Given the description of an element on the screen output the (x, y) to click on. 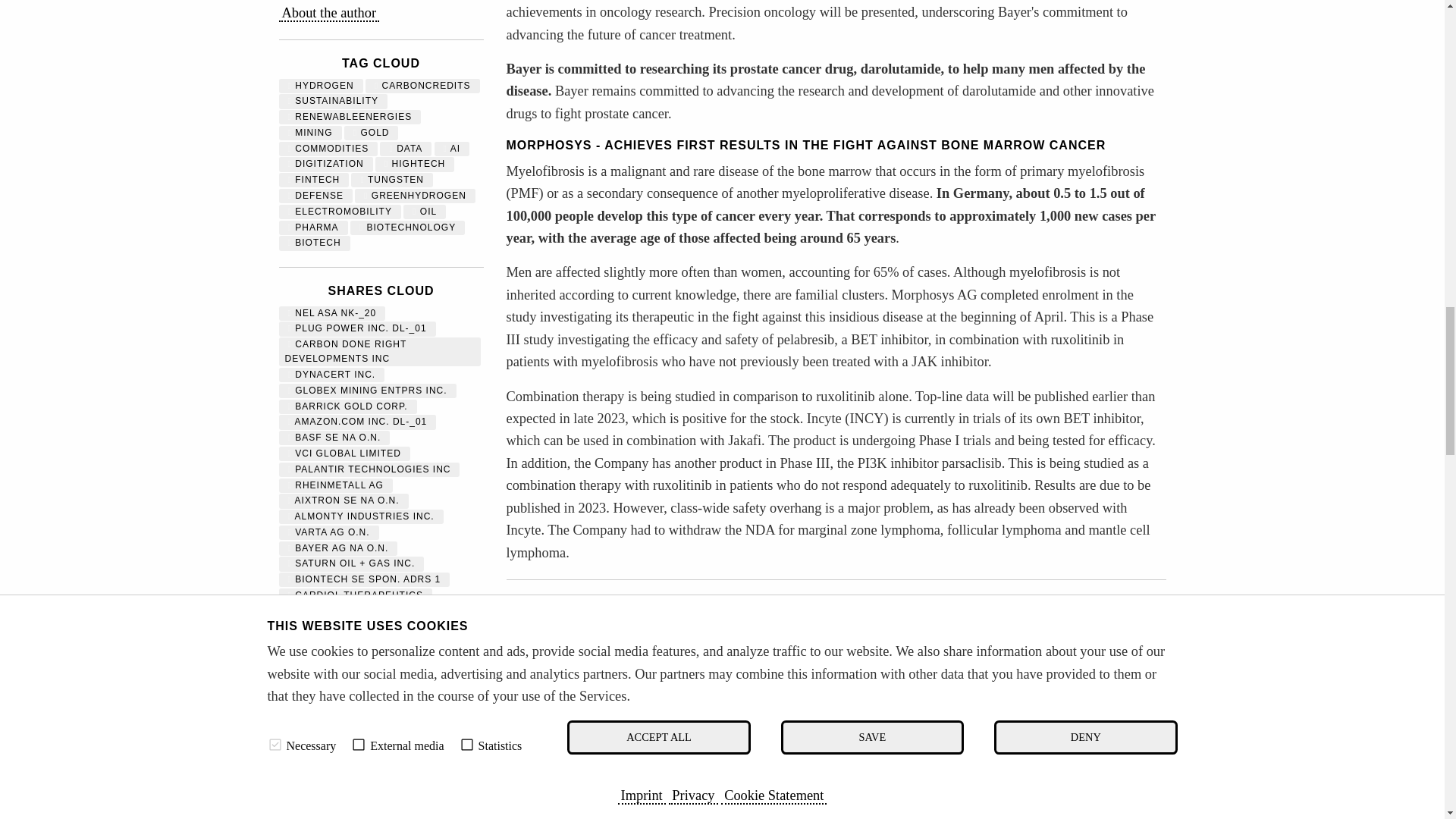
FINTECH (314, 179)
CARBONCREDITS (422, 85)
HYDROGEN (320, 85)
Juliane Zielonka (329, 13)
DIGITIZATION (325, 163)
RENEWABLEENERGIES (349, 116)
AI (452, 148)
COMMODITIES (328, 148)
SUSTAINABILITY (333, 100)
HIGHTECH (414, 163)
About the author (329, 13)
DATA (405, 148)
GOLD (371, 132)
MINING (310, 132)
